Given the description of an element on the screen output the (x, y) to click on. 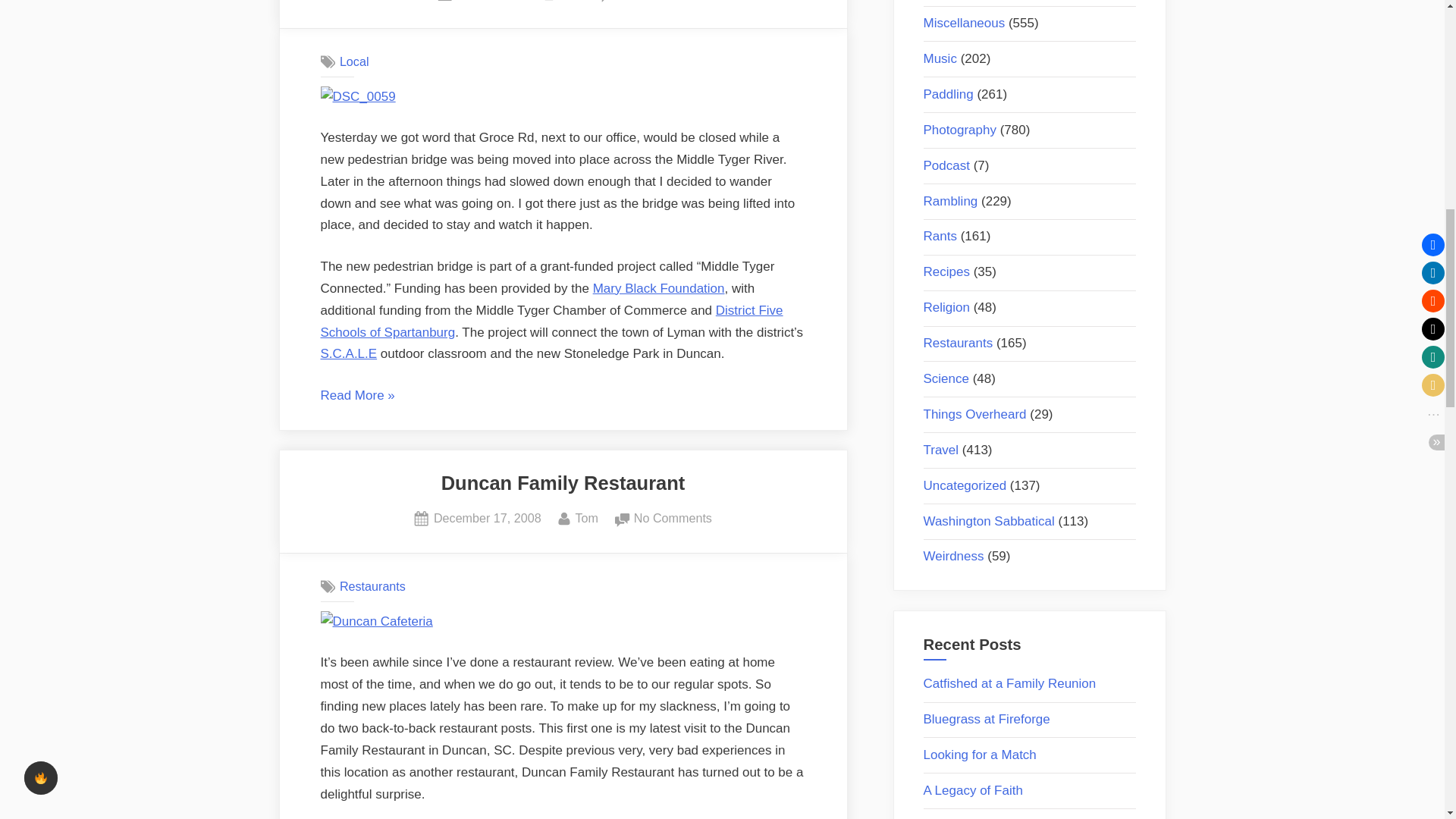
Duncan Family Restaurant (563, 482)
Local (354, 60)
Duncan Cafeteria by RandomConnections, on Flickr (376, 621)
District Five Schools of Spartanburg (491, 2)
Restaurants (586, 518)
